Given the description of an element on the screen output the (x, y) to click on. 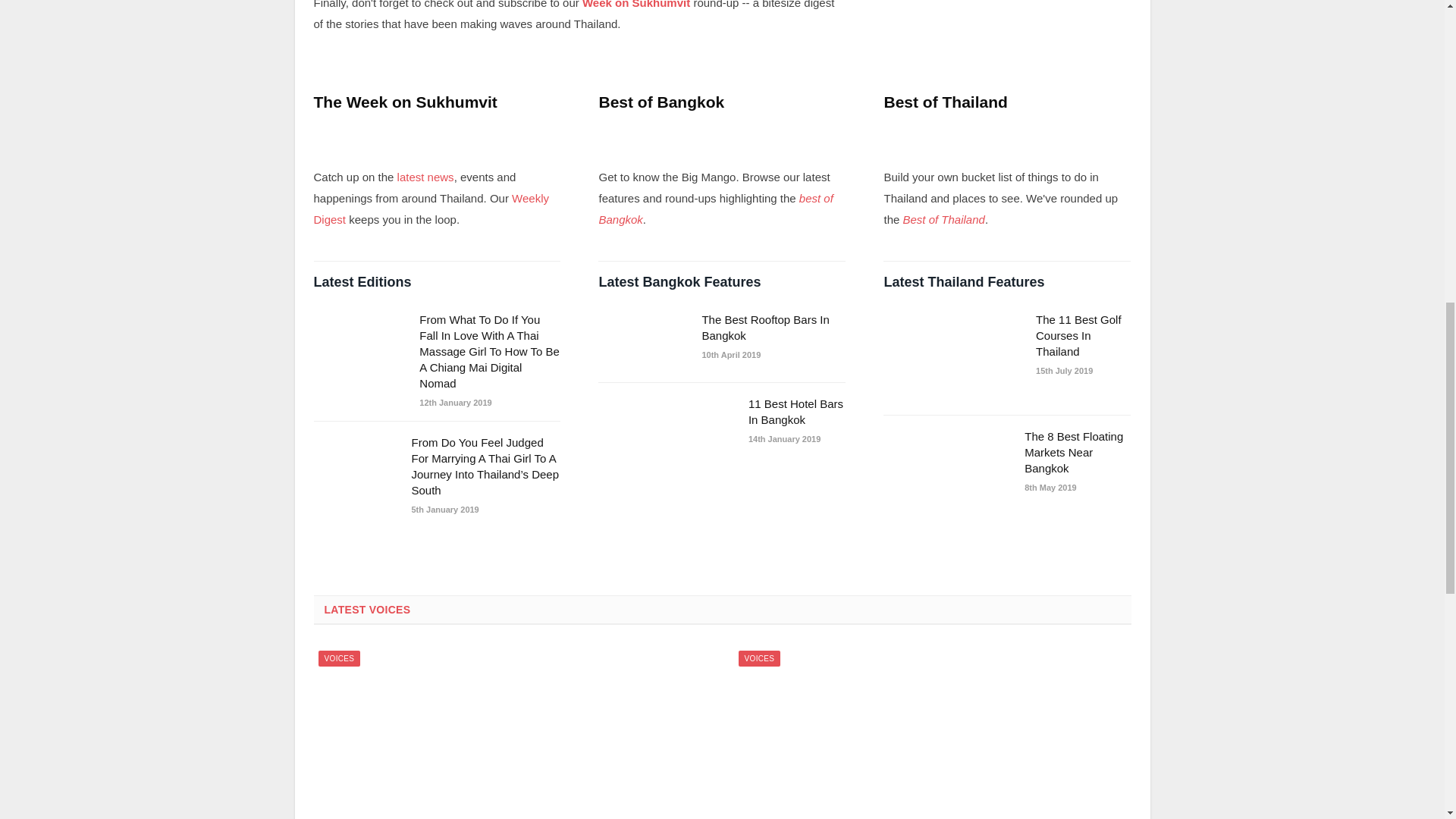
latest news (425, 176)
Weekly Digest (431, 208)
best of Bangkok (715, 208)
Week on Sukhumvit (636, 4)
